Given the description of an element on the screen output the (x, y) to click on. 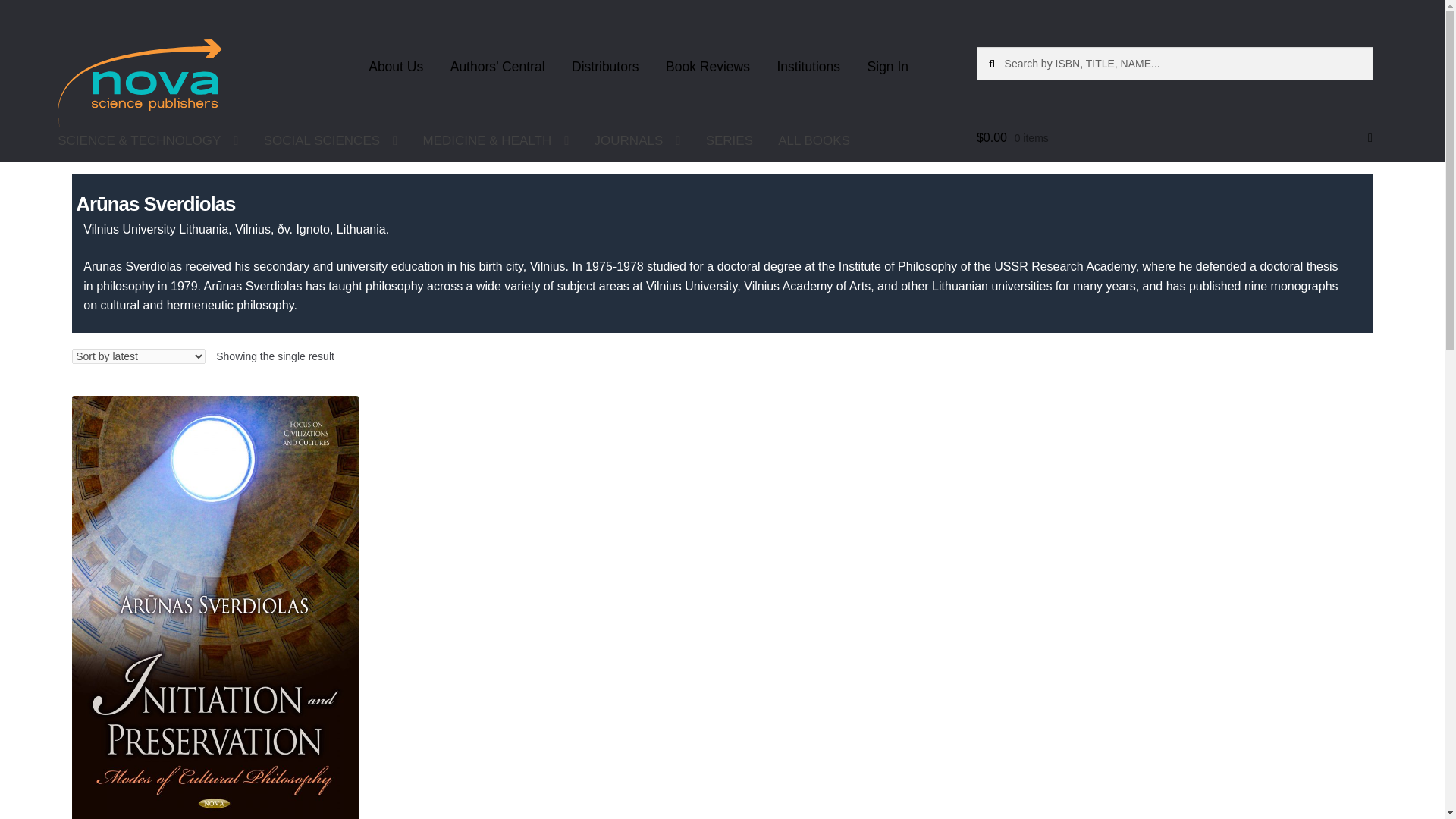
Book Reviews (707, 66)
SOCIAL SCIENCES (330, 140)
Distributors (605, 66)
About Us (395, 66)
Sign In (888, 66)
View your shopping cart (1174, 137)
Institutions (808, 66)
